Given the description of an element on the screen output the (x, y) to click on. 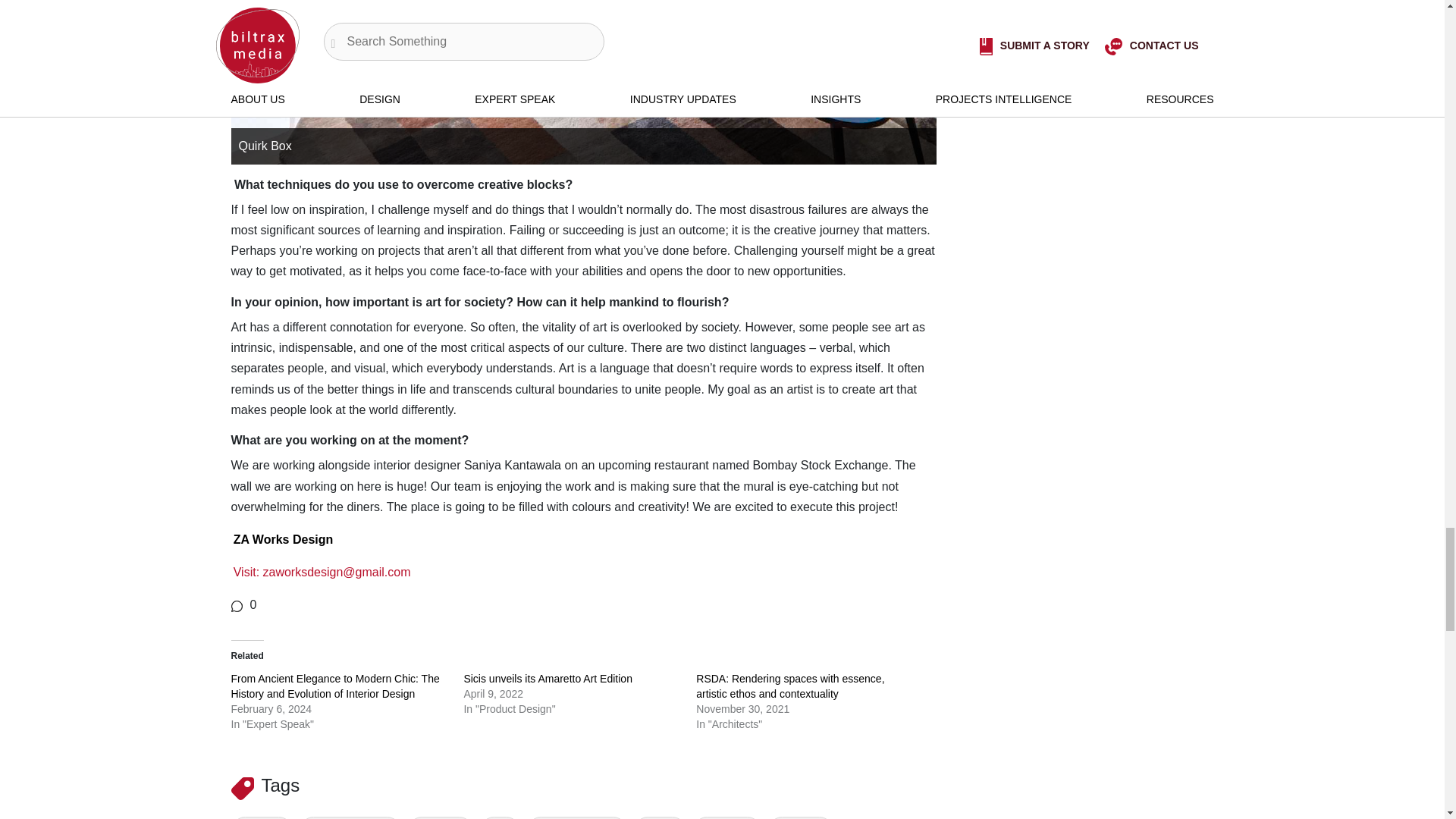
Sicis unveils its Amaretto Art Edition (547, 678)
